Given the description of an element on the screen output the (x, y) to click on. 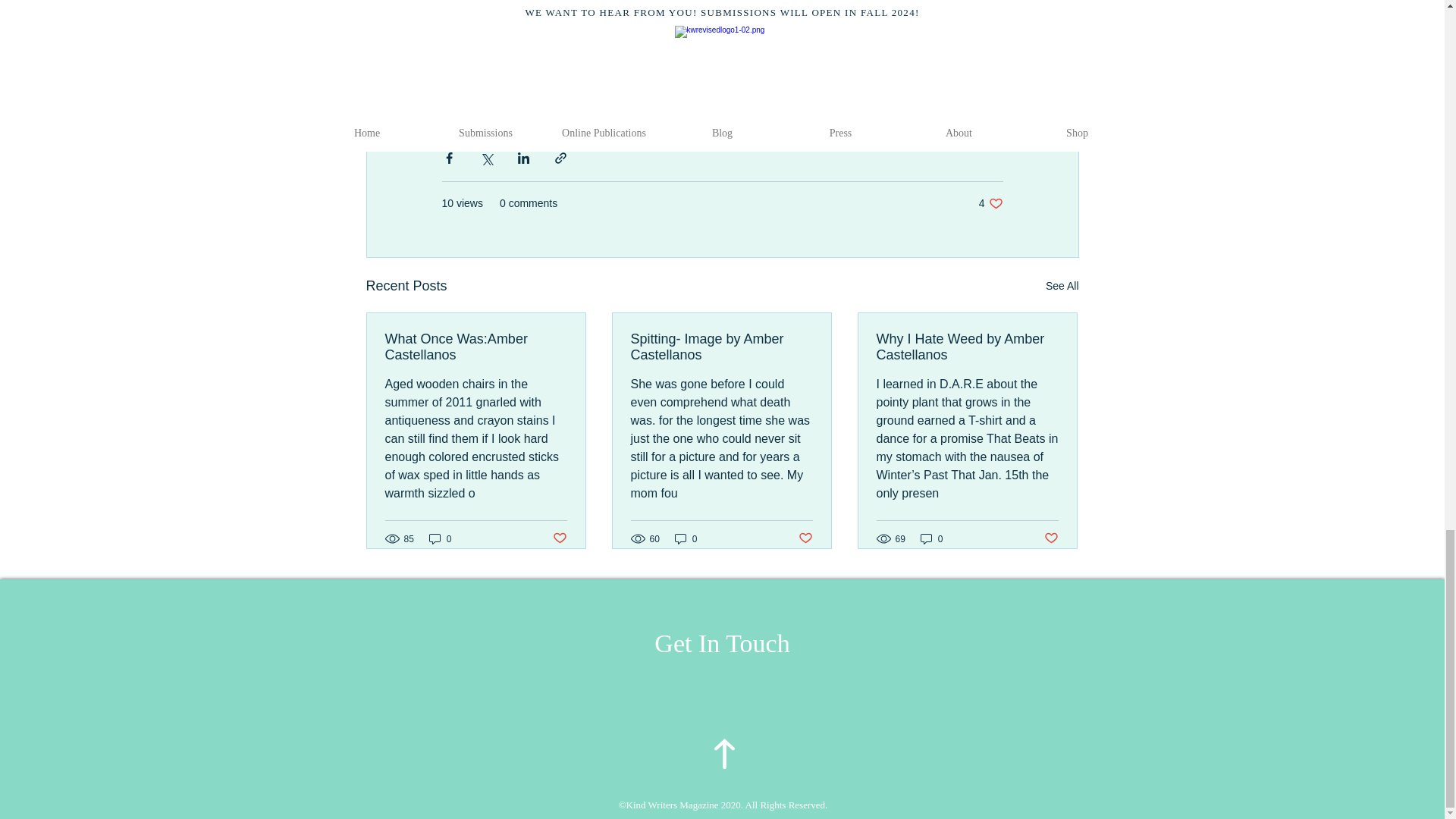
0 (440, 538)
Post not marked as liked (804, 538)
See All (990, 203)
Spitting- Image by Amber Castellanos (1061, 286)
Post not marked as liked (721, 347)
0 (1050, 538)
Post not marked as liked (685, 538)
What Once Was:Amber Castellanos (558, 538)
0 (476, 347)
Why I Hate Weed by Amber Castellanos (931, 538)
